Given the description of an element on the screen output the (x, y) to click on. 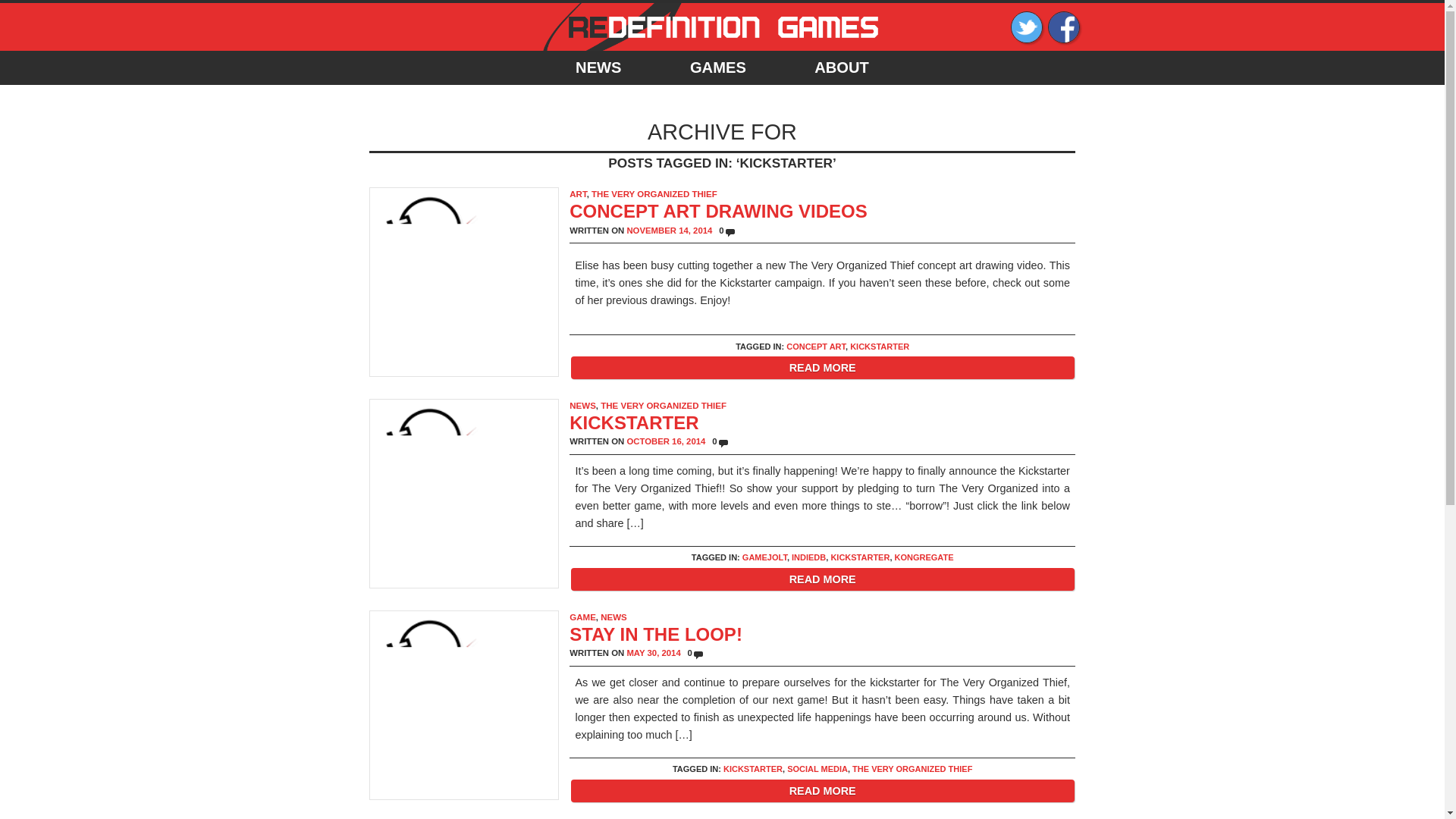
NEWS (613, 616)
KICKSTARTER (753, 768)
Redefinition Games (721, 46)
READ MORE (822, 790)
NEWS (582, 405)
KICKSTARTER (879, 345)
CONCEPT ART (815, 345)
Visit Redefinition Games on Facebook (1064, 39)
KONGREGATE (924, 556)
GAMES (717, 67)
